Given the description of an element on the screen output the (x, y) to click on. 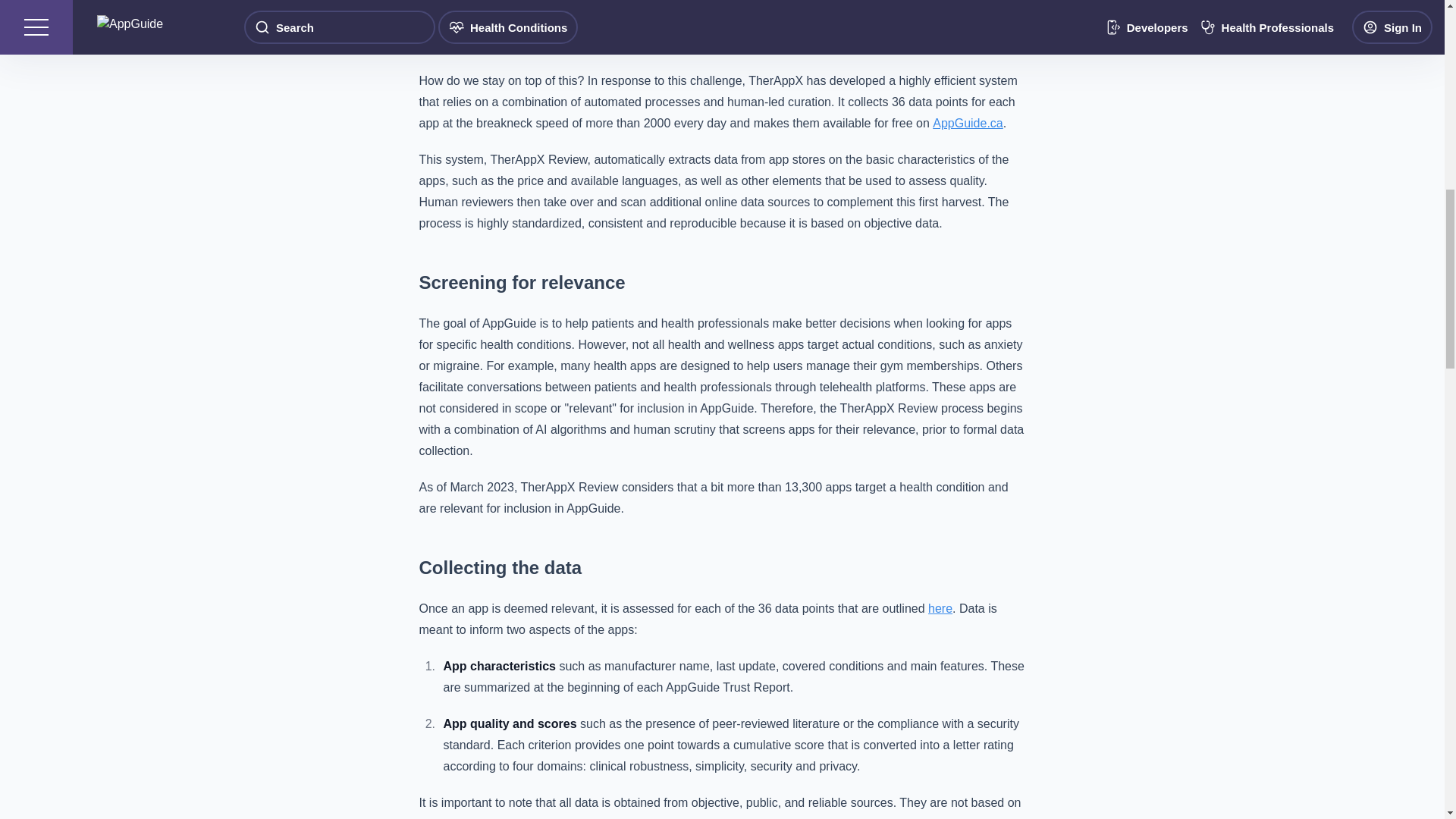
here (940, 608)
AppGuide.ca (968, 123)
